Given the description of an element on the screen output the (x, y) to click on. 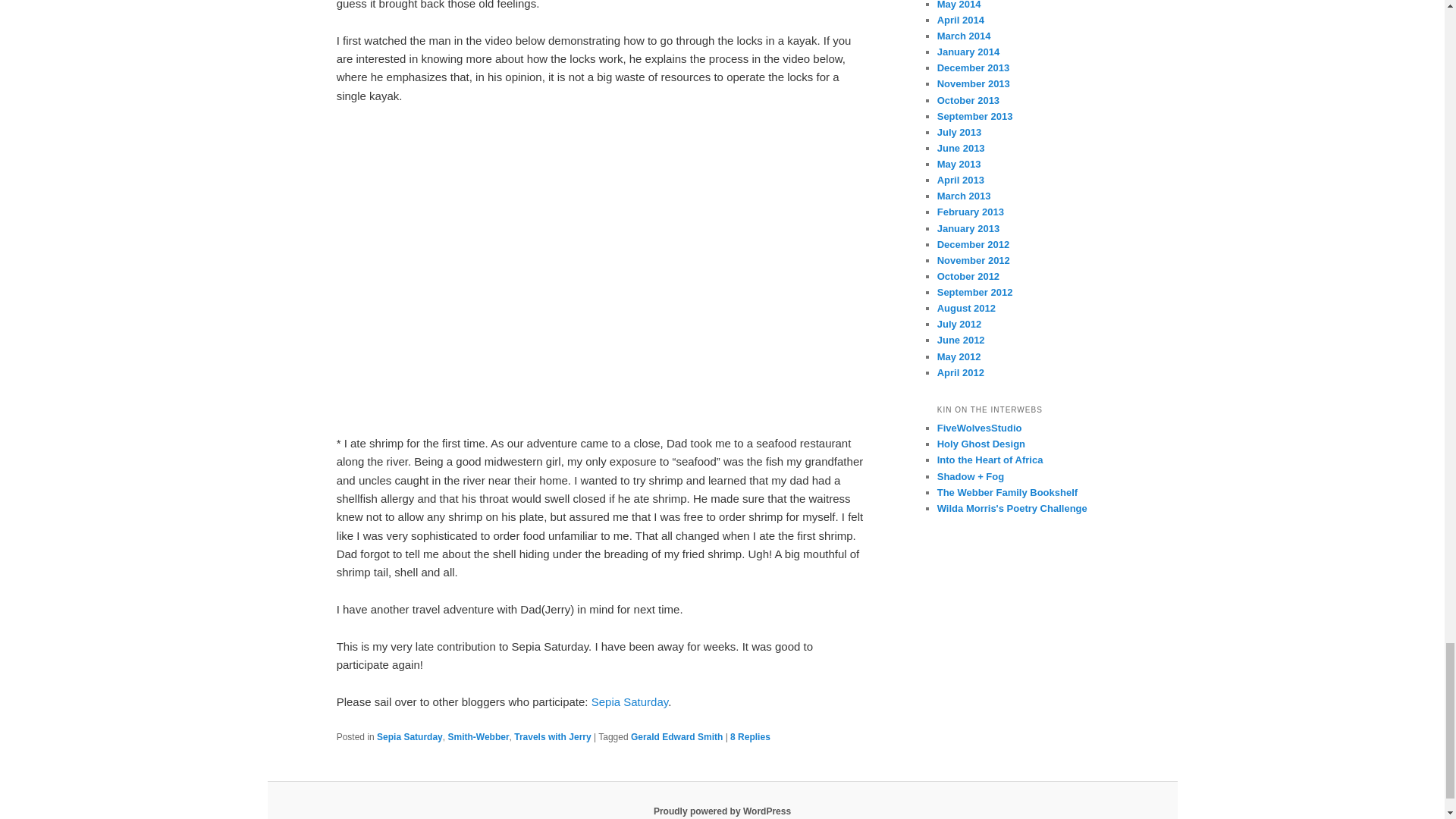
Sepia Saturday (409, 737)
Gerald Edward Smith (676, 737)
Smith-Webber (477, 737)
Travels with Jerry (552, 737)
Sepia Saturday (629, 701)
8 Replies (750, 737)
Semantic Personal Publishing Platform (721, 810)
